Given the description of an element on the screen output the (x, y) to click on. 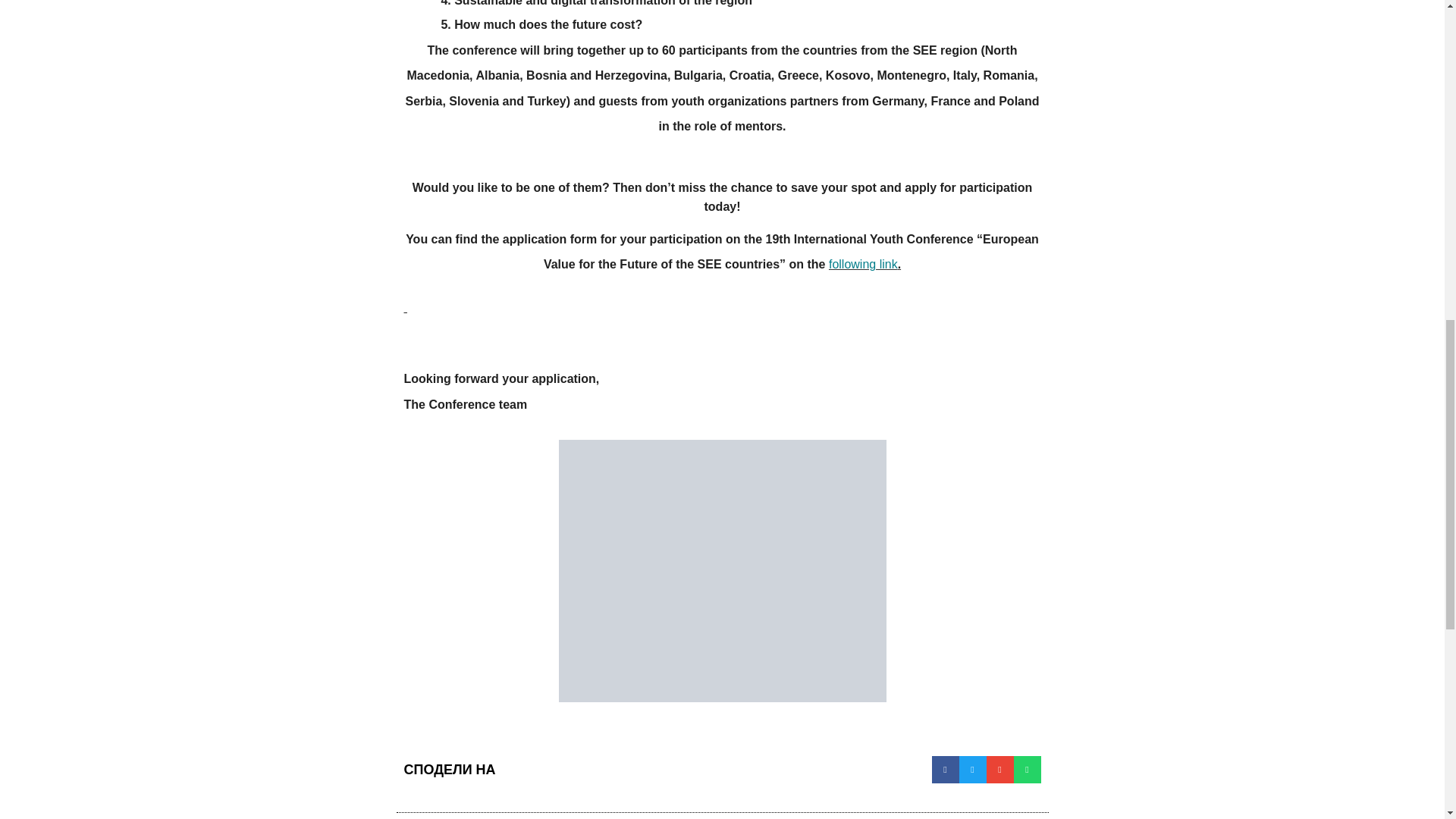
following link (863, 264)
